Given the description of an element on the screen output the (x, y) to click on. 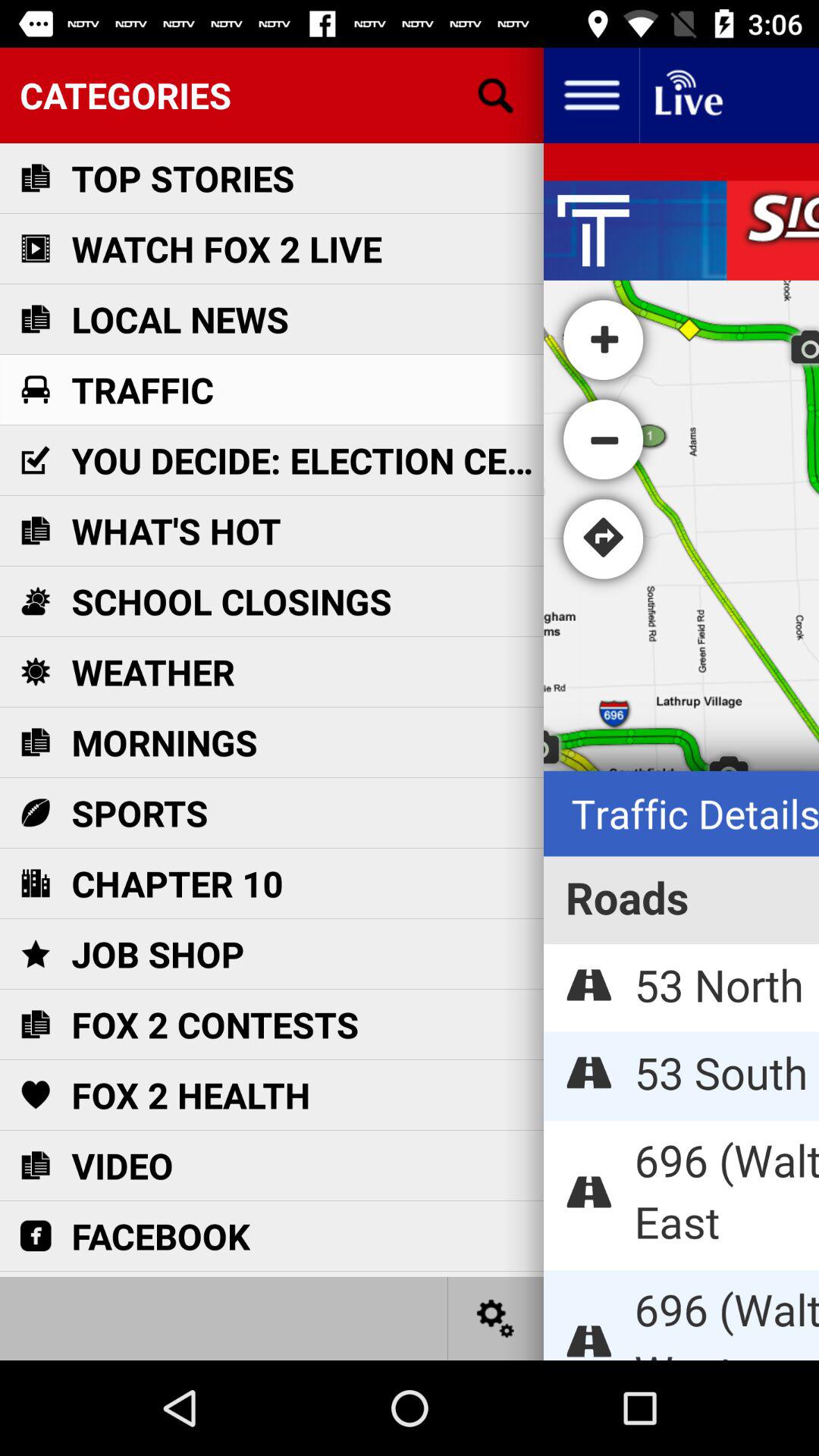
go to left of morning (35, 742)
click on icon left to weather (35, 671)
click the settings icon below facebook (495, 1317)
click on icon left to job shop (35, 953)
